Given the description of an element on the screen output the (x, y) to click on. 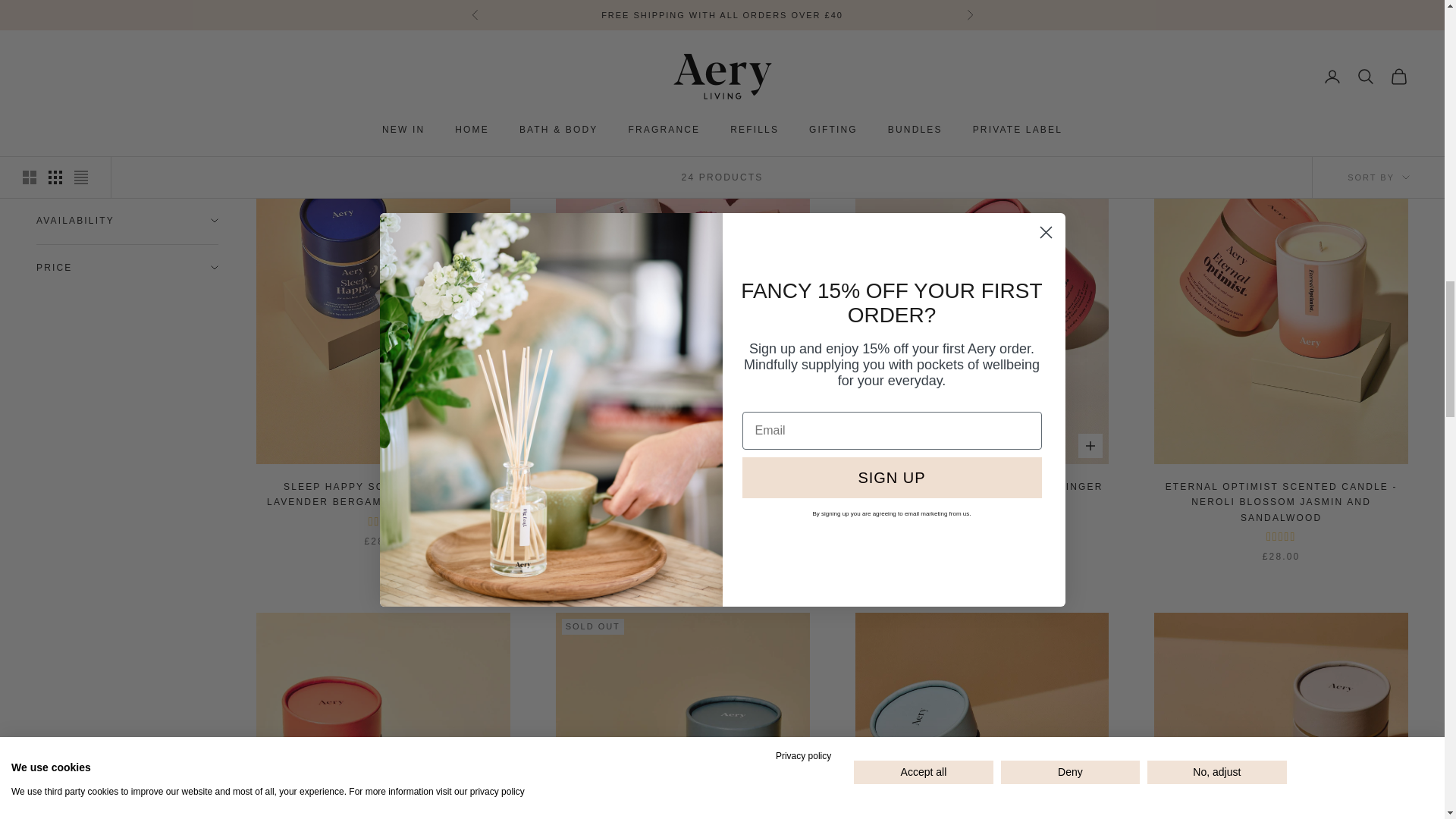
4.33 Stars - 3 Reviews (382, 13)
5 Stars - 4 Reviews (382, 521)
5 Stars - 26 Reviews (682, 521)
5 Stars - 4 Reviews (1280, 13)
5 Star - 1 Review (980, 13)
4.92 Stars - 12 Reviews (980, 521)
4.8 Stars - 15 Reviews (1280, 537)
5 Stars - 3 Reviews (682, 27)
